Given the description of an element on the screen output the (x, y) to click on. 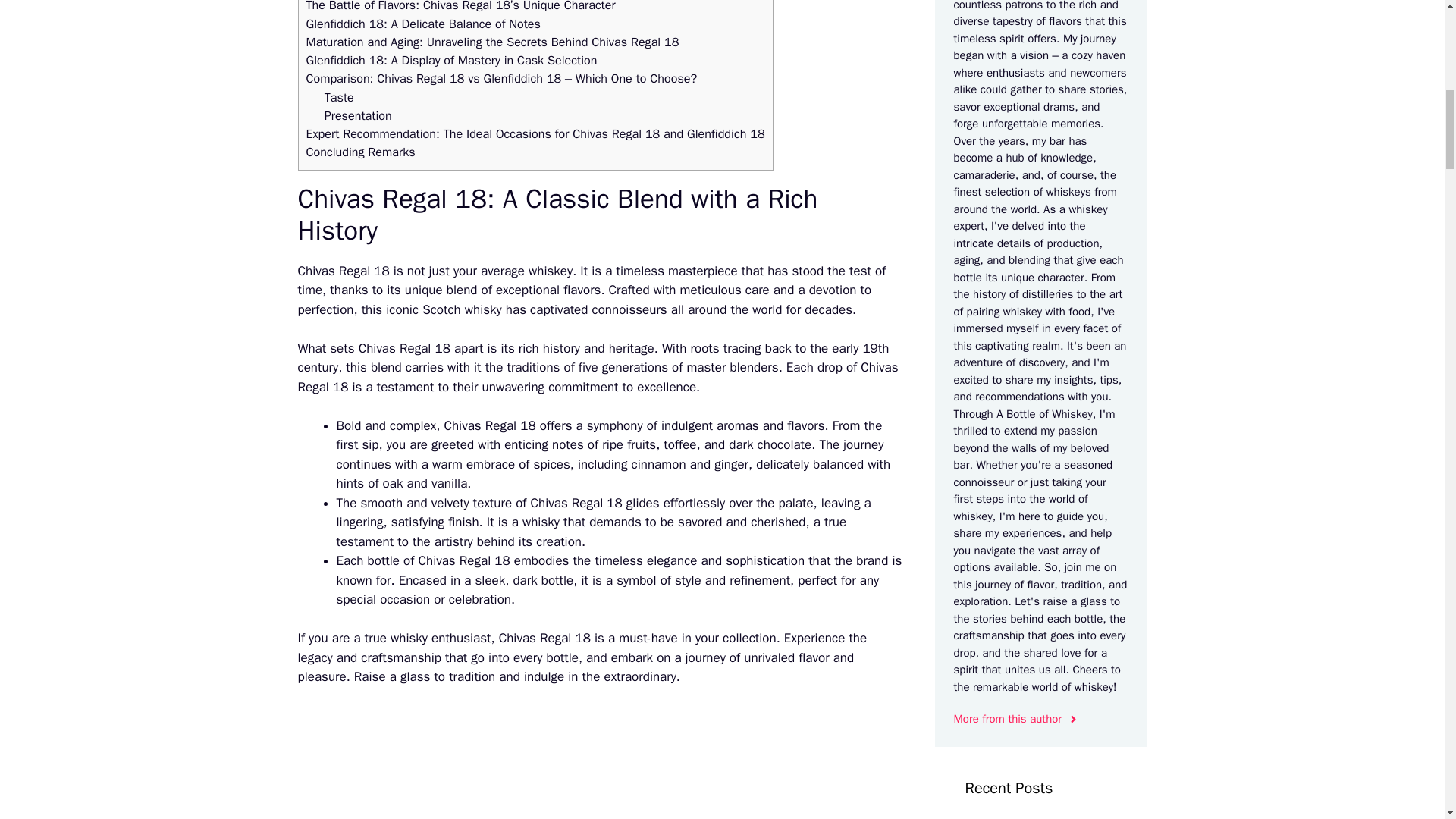
Presentation (357, 115)
Glenfiddich 18: A Delicate Balance of Notes (422, 23)
Taste (338, 97)
Scroll back to top (1406, 720)
More from this author (1015, 719)
Concluding Remarks (359, 151)
Glenfiddich 18: A Display of Mastery in Cask Selection (450, 59)
